Given the description of an element on the screen output the (x, y) to click on. 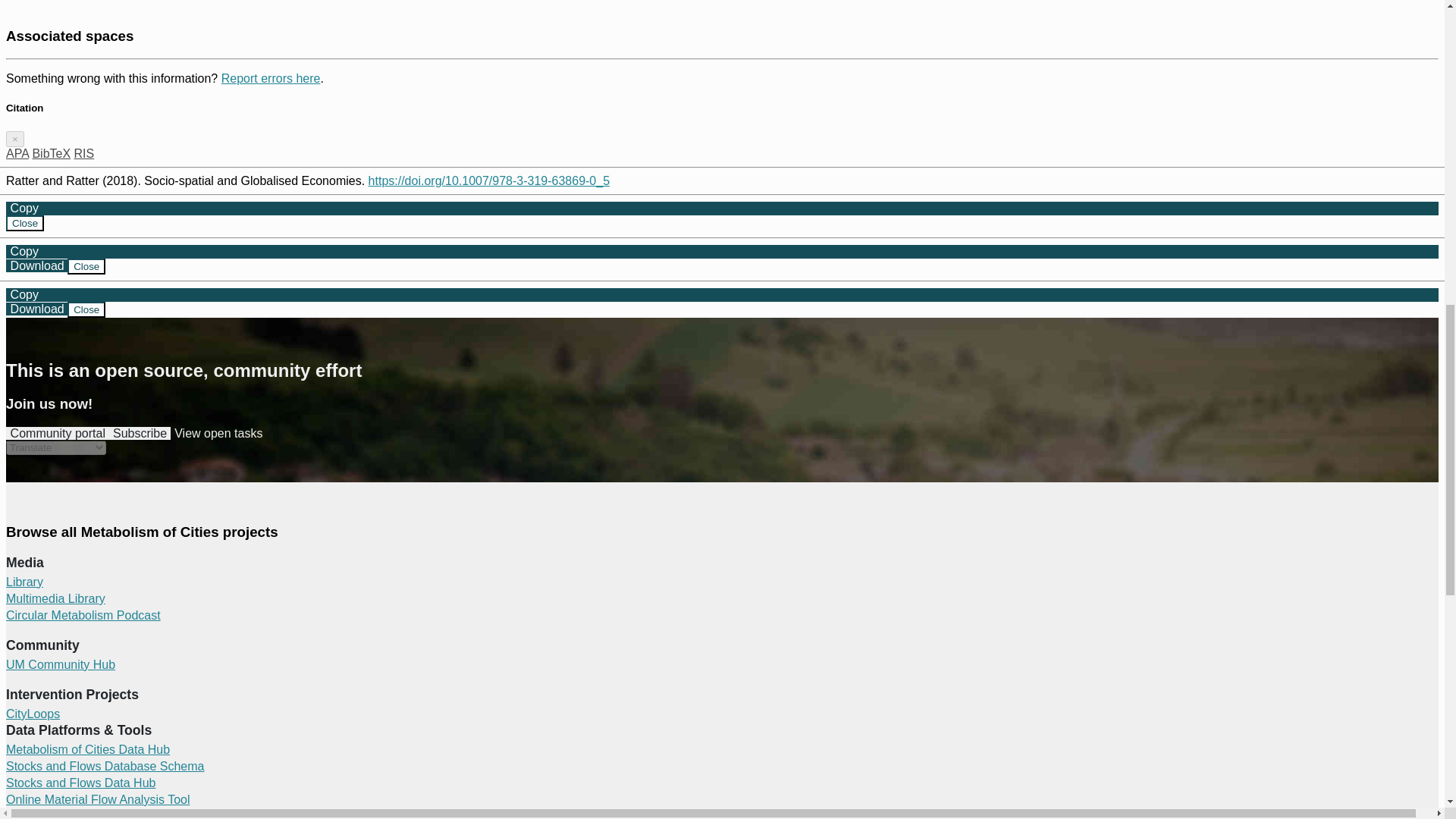
Close (85, 266)
Close (24, 222)
BibTeX (50, 153)
Report errors here (270, 78)
RIS (84, 153)
Download (35, 265)
APA (17, 153)
